Given the description of an element on the screen output the (x, y) to click on. 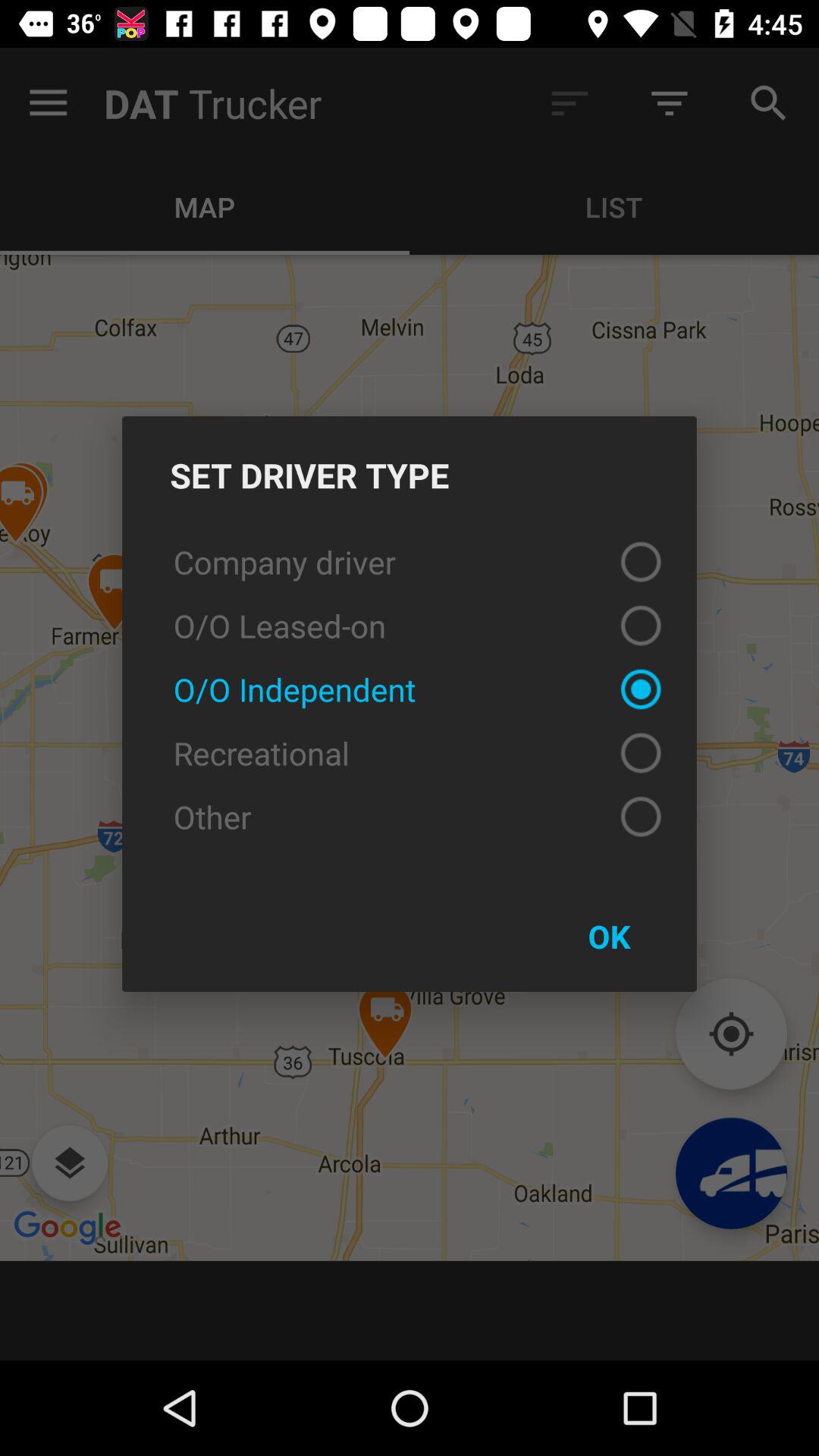
swipe to company driver icon (409, 561)
